Given the description of an element on the screen output the (x, y) to click on. 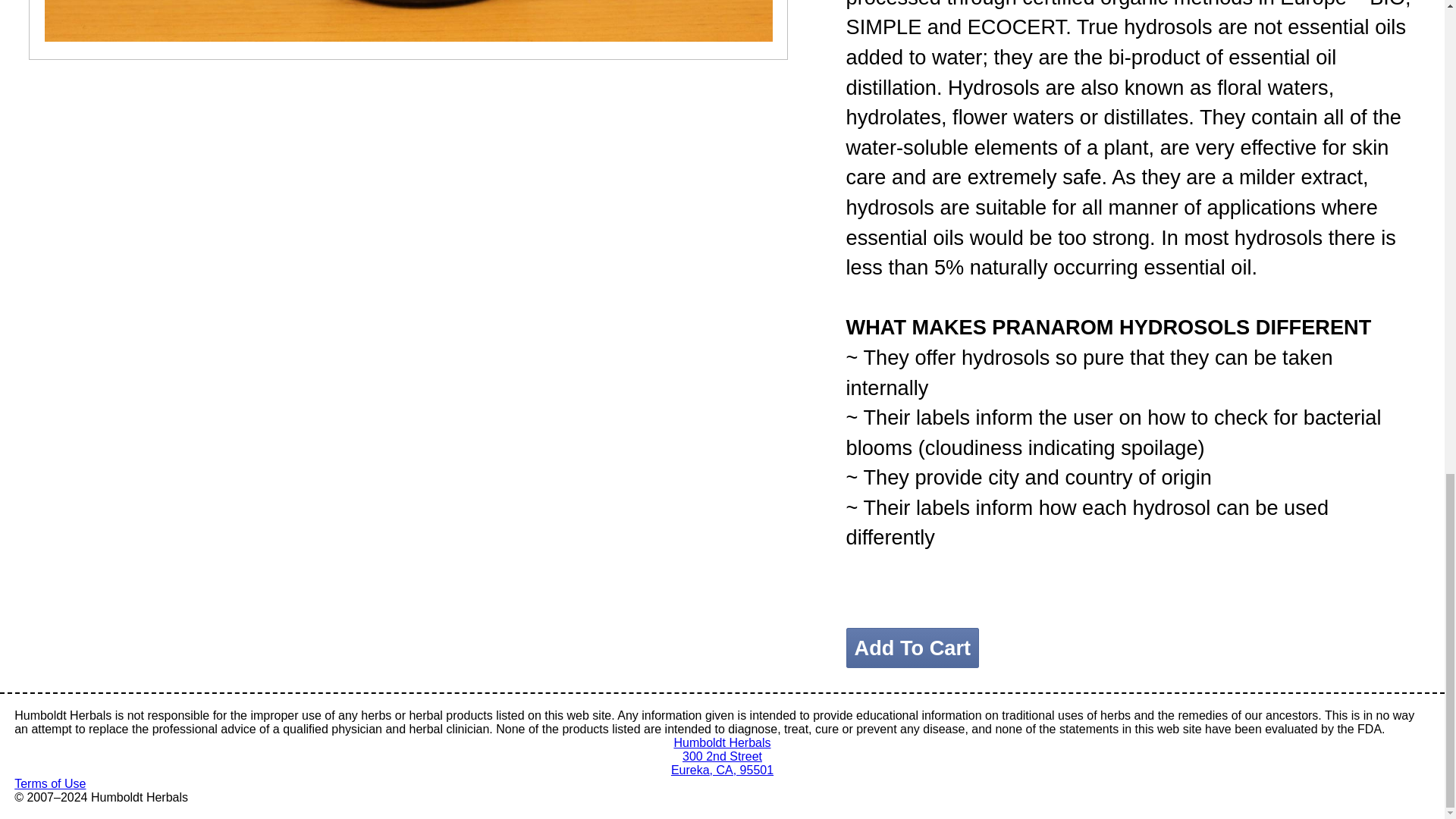
Add To Cart (912, 648)
Terms of Use (722, 756)
